Given the description of an element on the screen output the (x, y) to click on. 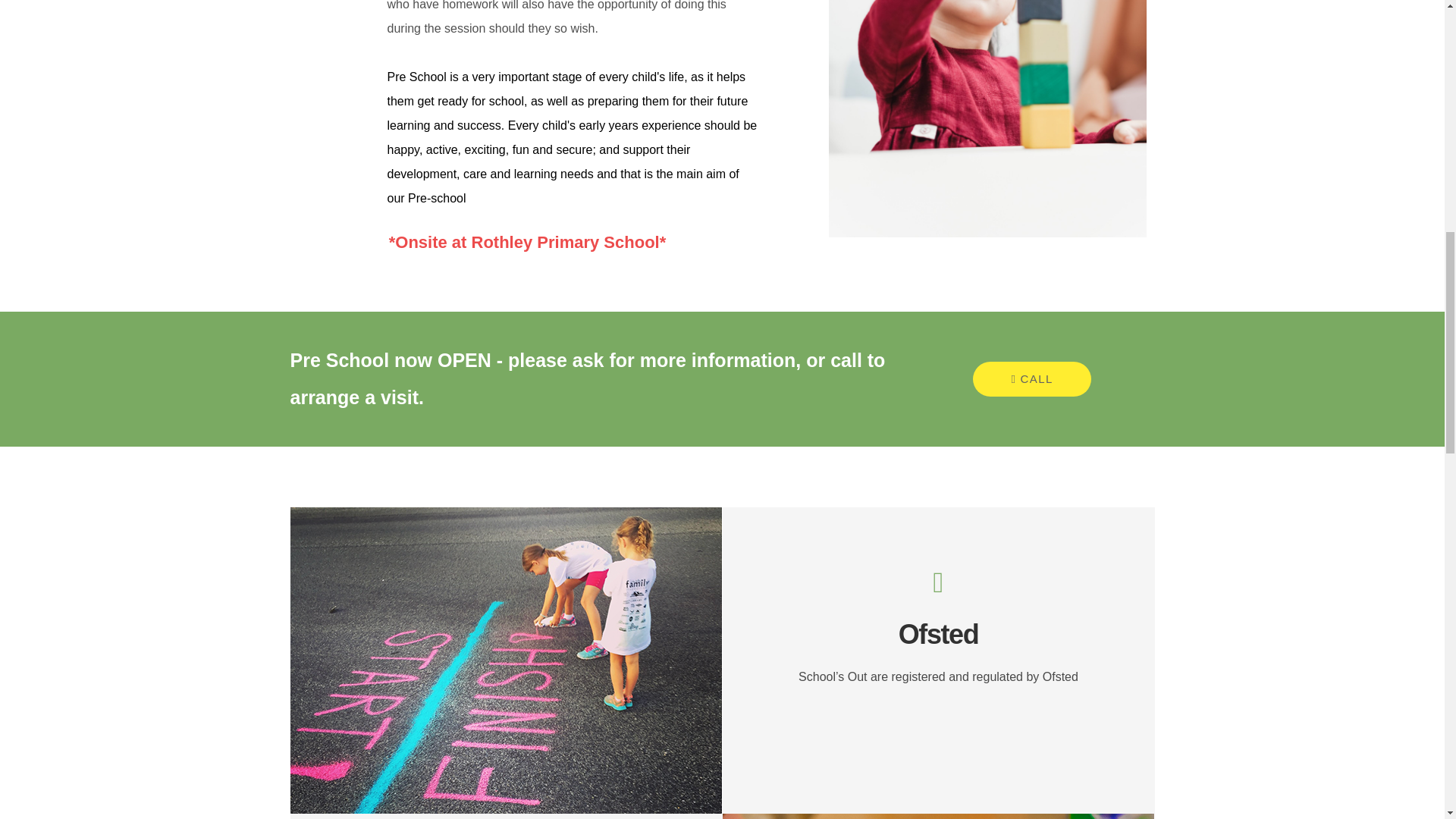
CALL (1031, 378)
